Given the description of an element on the screen output the (x, y) to click on. 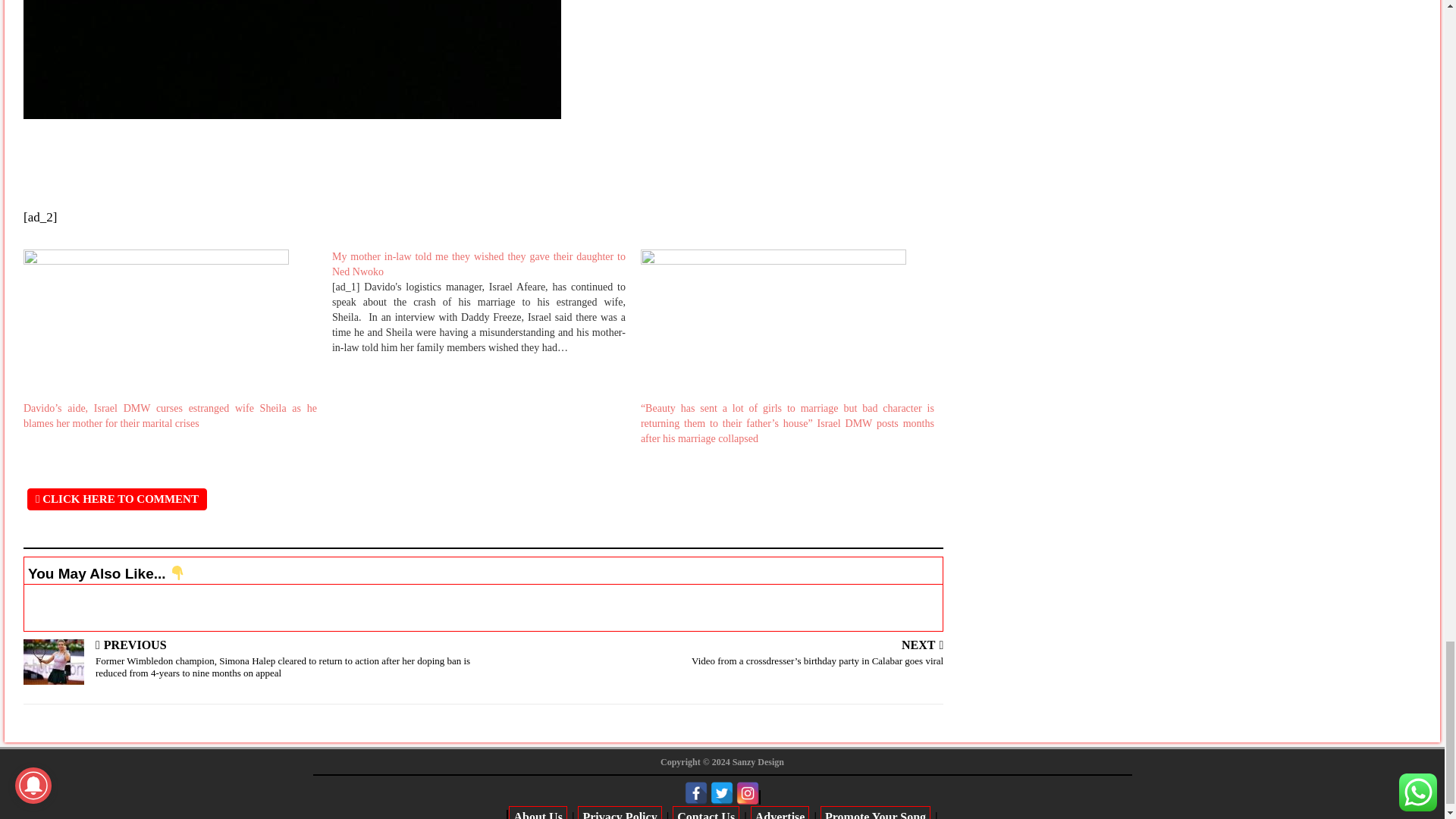
CLICK HERE TO COMMENT (116, 499)
